Given the description of an element on the screen output the (x, y) to click on. 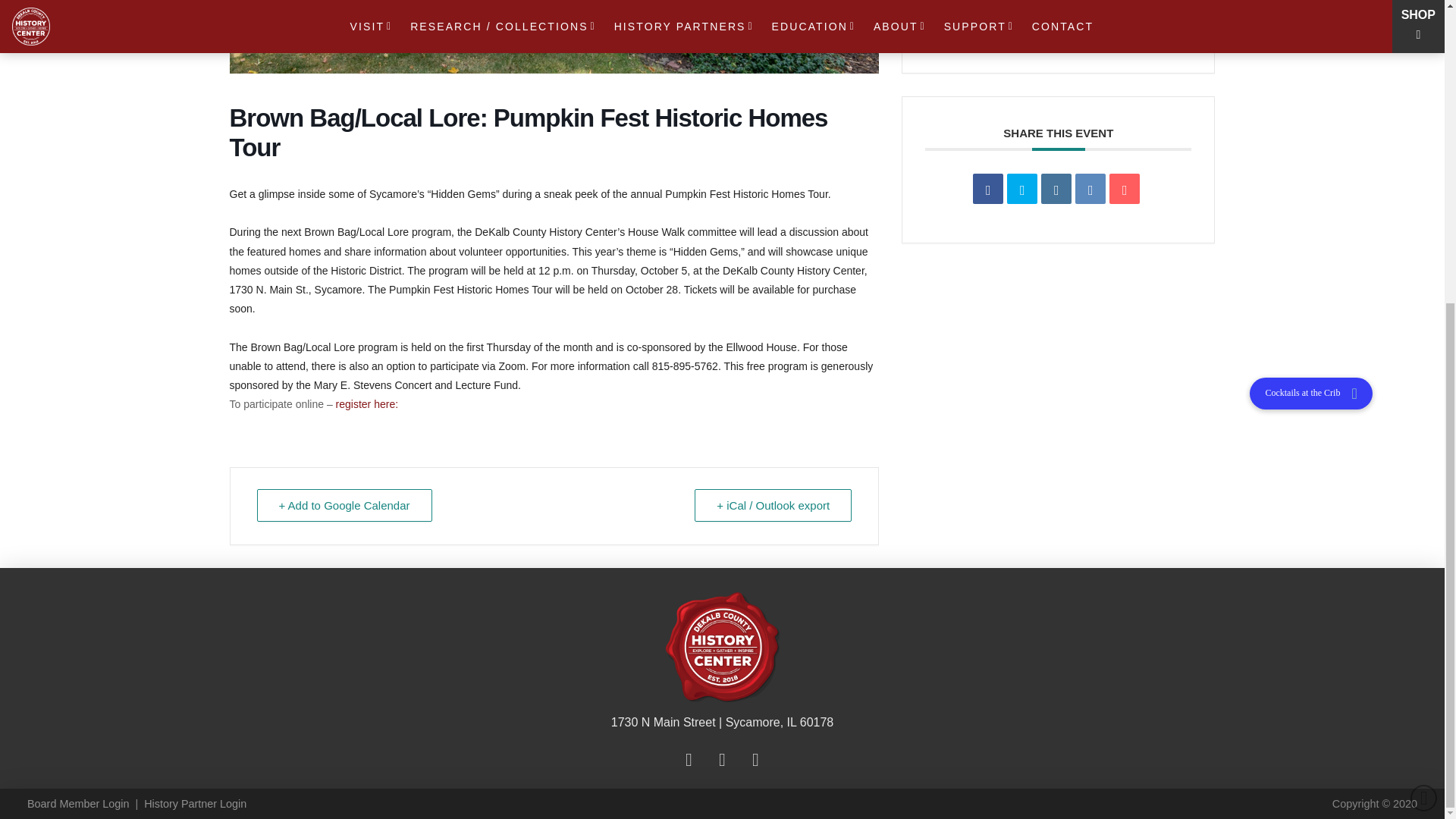
register here: (366, 404)
Tweet (1021, 188)
Email (1124, 188)
Linkedin (1056, 188)
VK (1090, 188)
Share on Facebook (987, 188)
Back to Top (1423, 324)
